Given the description of an element on the screen output the (x, y) to click on. 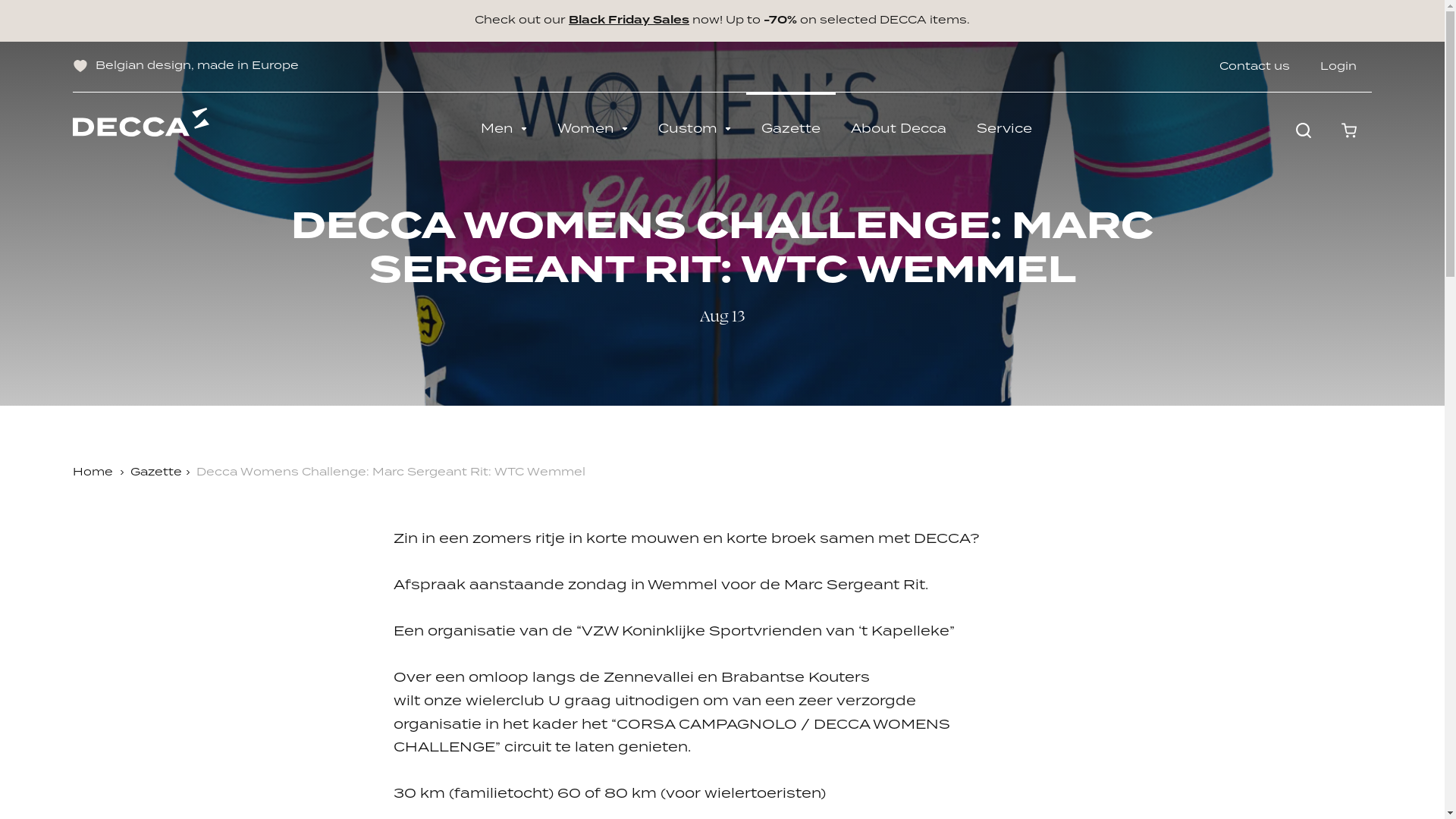
Contact us Element type: text (1254, 66)
Service Element type: text (1004, 128)
Gazette Element type: text (790, 128)
Men Element type: text (503, 128)
Login Element type: text (1338, 66)
Home Element type: text (92, 472)
Gazette Element type: text (156, 472)
Women Element type: text (592, 128)
Cart Element type: text (1348, 130)
Black Friday Sales Element type: text (628, 20)
About Decca Element type: text (898, 128)
Custom Element type: text (694, 128)
